Given the description of an element on the screen output the (x, y) to click on. 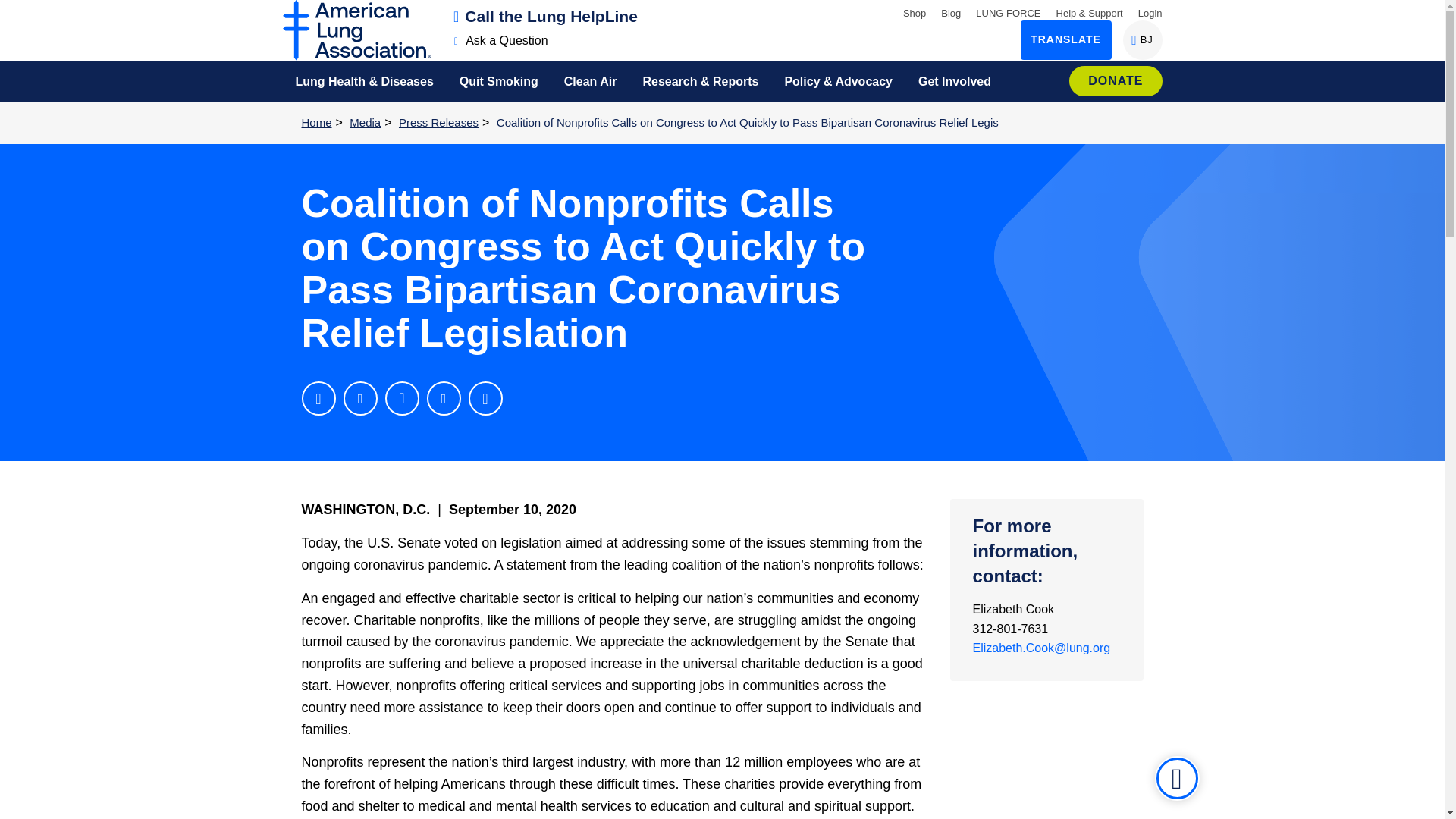
SKIP TO MAIN CONTENT (18, 10)
Blog (950, 13)
Call the Lung HelpLine (545, 16)
TRANSLATE (1066, 39)
LUNG FORCE (1008, 13)
Ask a Question (501, 40)
Login (1141, 39)
Shop (1149, 13)
